Given the description of an element on the screen output the (x, y) to click on. 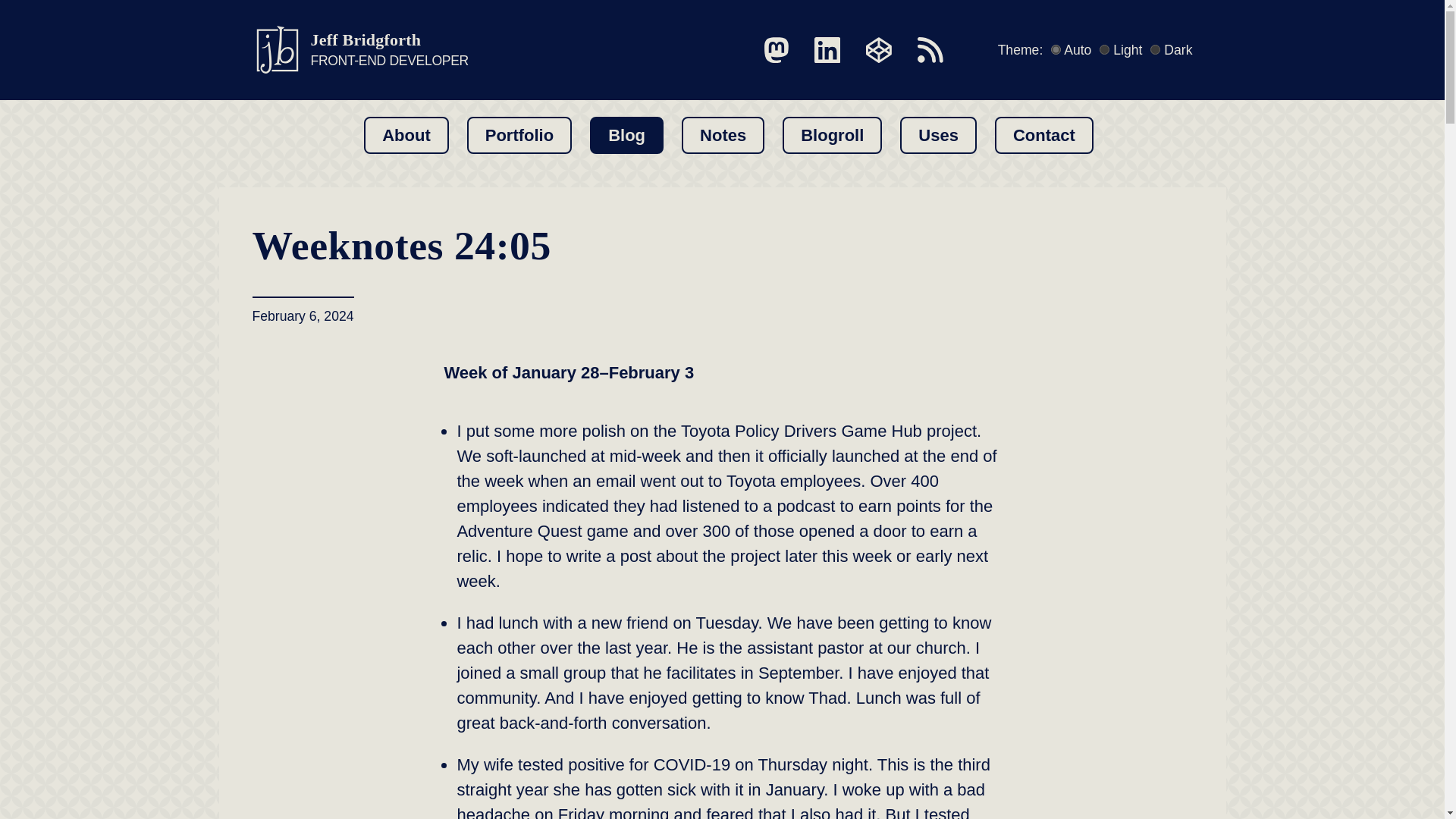
auto (1056, 49)
dark (1155, 49)
Codepen (878, 49)
Blogroll (832, 135)
Notes (722, 135)
About (406, 135)
LinkedIn (826, 49)
Contact (1043, 135)
Mastodon (776, 49)
light (1104, 49)
Blog (359, 50)
Portfolio (626, 135)
Uses (519, 135)
Feed (937, 135)
